Given the description of an element on the screen output the (x, y) to click on. 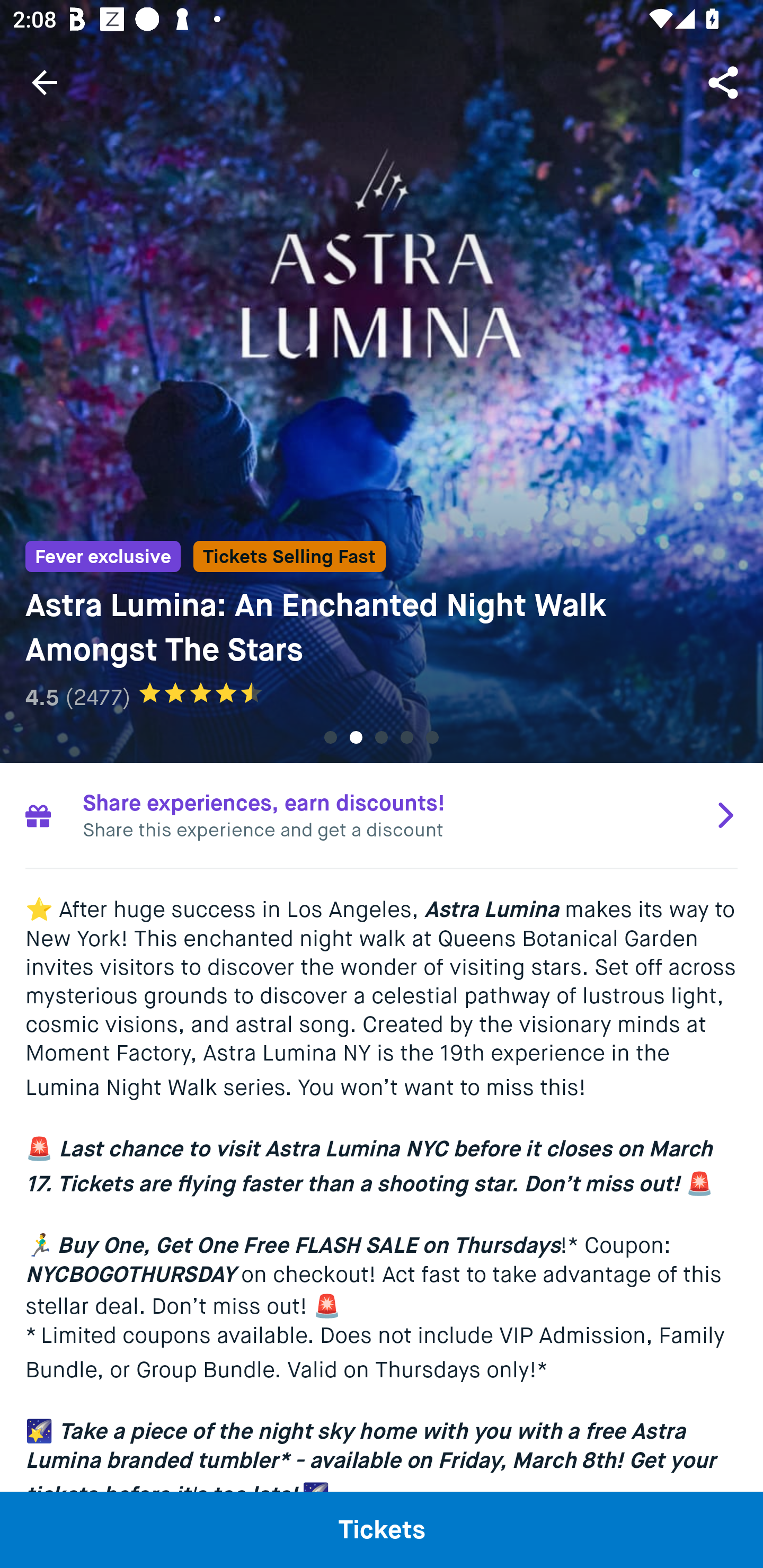
Navigate up (44, 82)
Share (724, 81)
(2477) (97, 697)
Tickets (381, 1529)
